Given the description of an element on the screen output the (x, y) to click on. 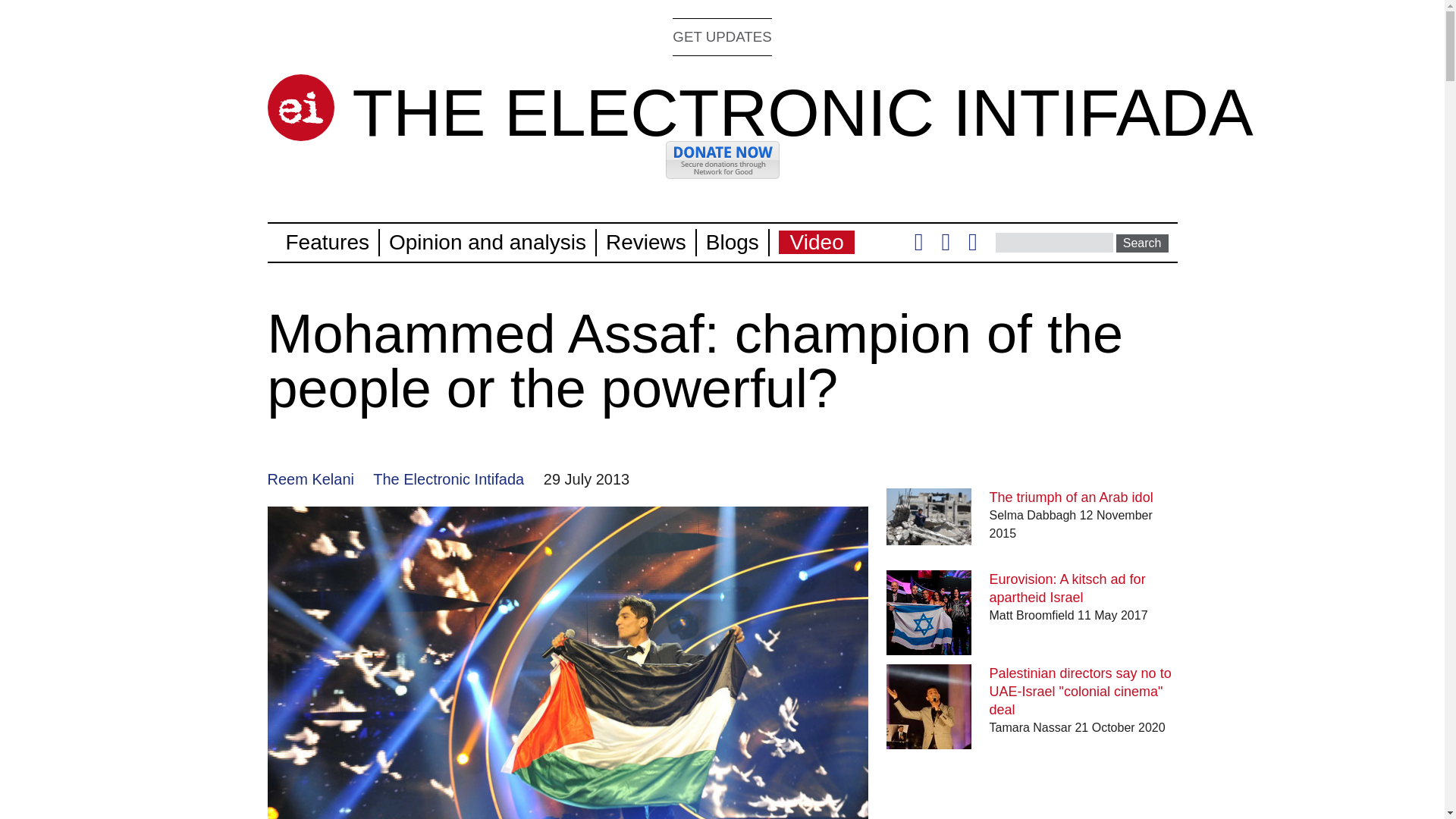
Home (299, 107)
GET UPDATES (721, 37)
Reem Kelani (309, 478)
Home (802, 112)
THE ELECTRONIC INTIFADA (802, 112)
Search (1142, 243)
The Electronic Intifada (448, 478)
Enter the terms you wish to search for. (1054, 242)
